Given the description of an element on the screen output the (x, y) to click on. 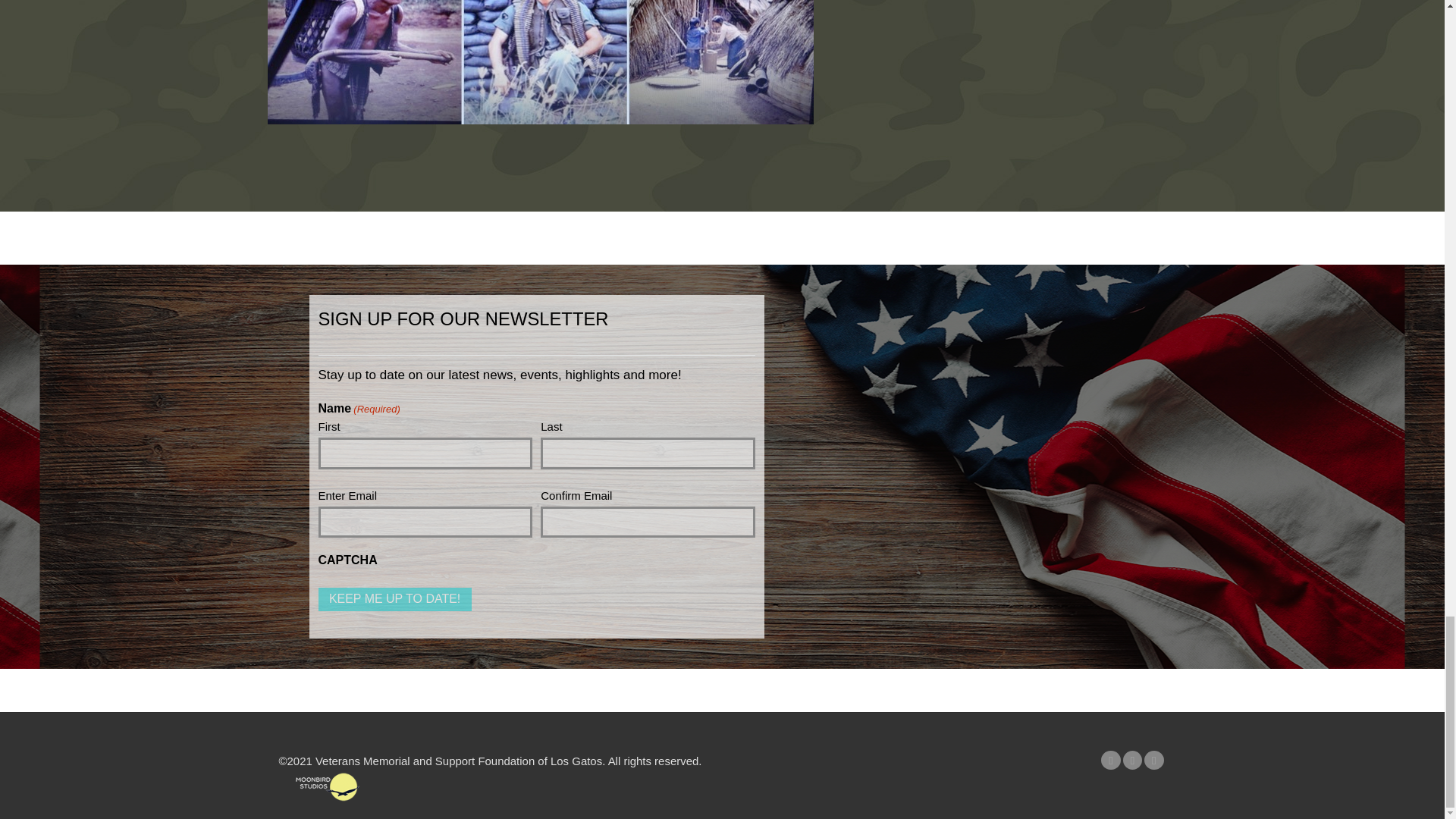
Keep me up to date! (394, 599)
